Given the description of an element on the screen output the (x, y) to click on. 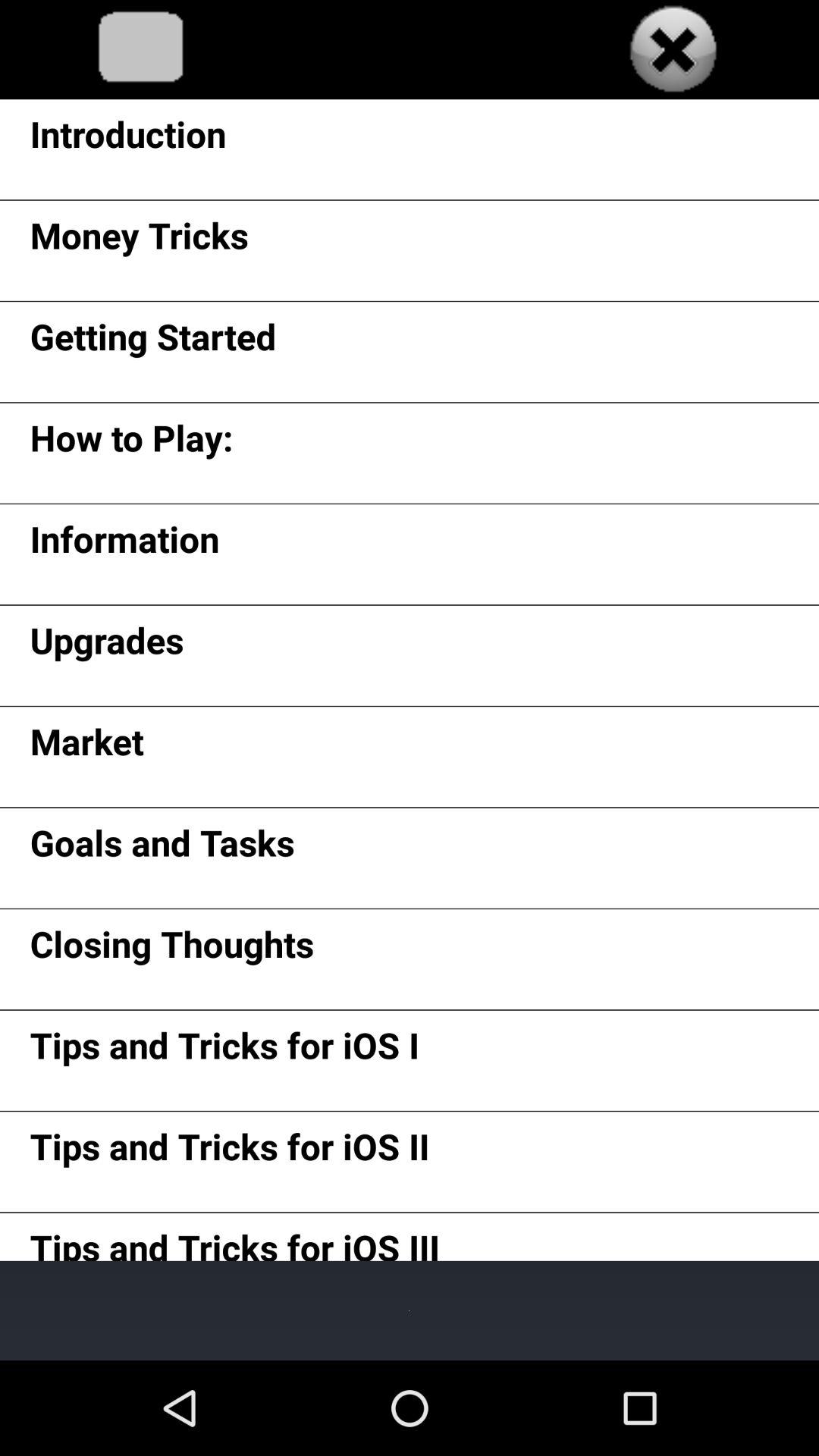
press icon above the money tricks (128, 139)
